Given the description of an element on the screen output the (x, y) to click on. 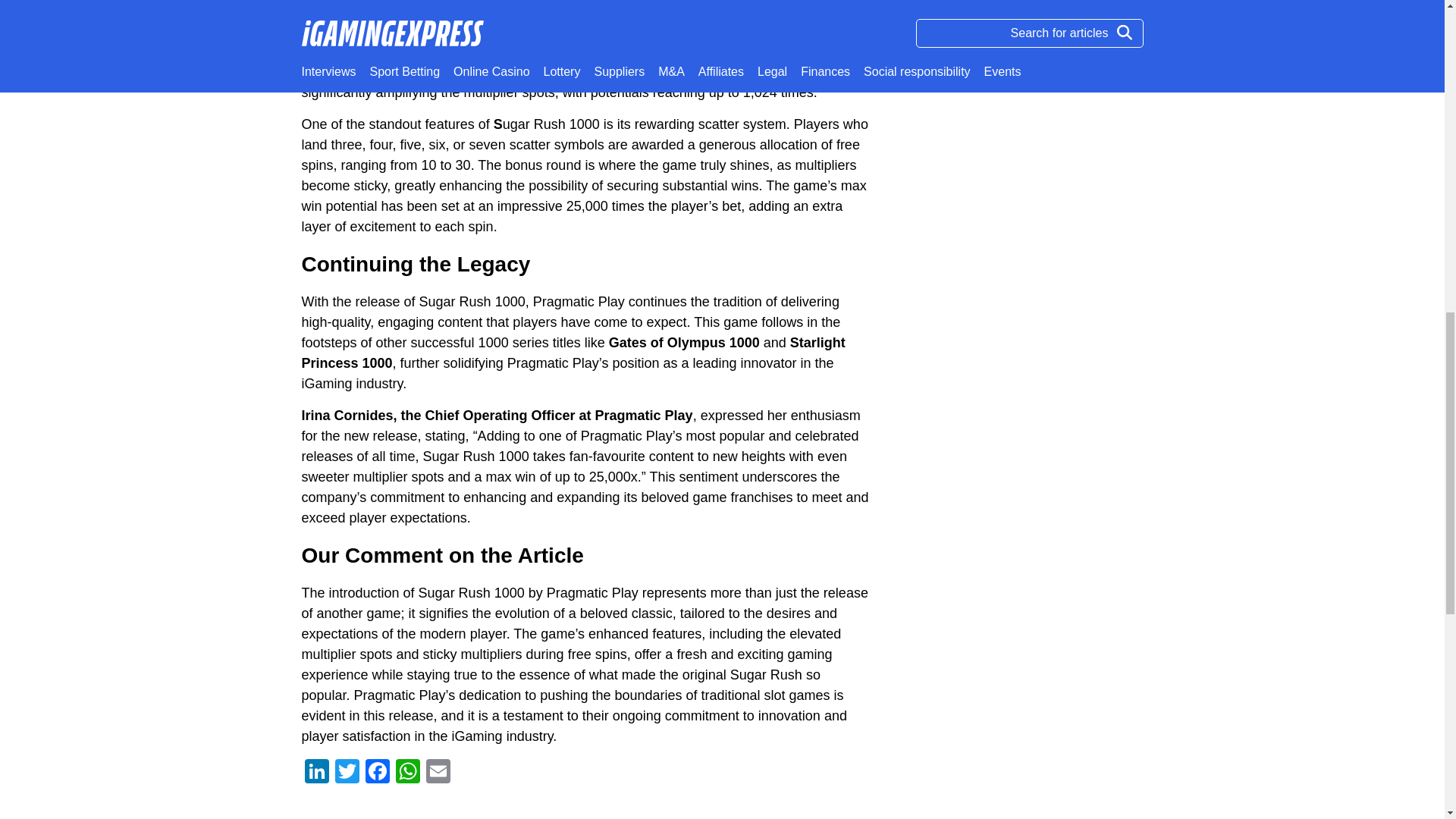
Email (437, 773)
LinkedIn (316, 773)
Facebook (377, 773)
Twitter (346, 773)
LinkedIn (316, 773)
WhatsApp (408, 773)
Twitter (346, 773)
WhatsApp (408, 773)
Email (437, 773)
Facebook (377, 773)
